Given the description of an element on the screen output the (x, y) to click on. 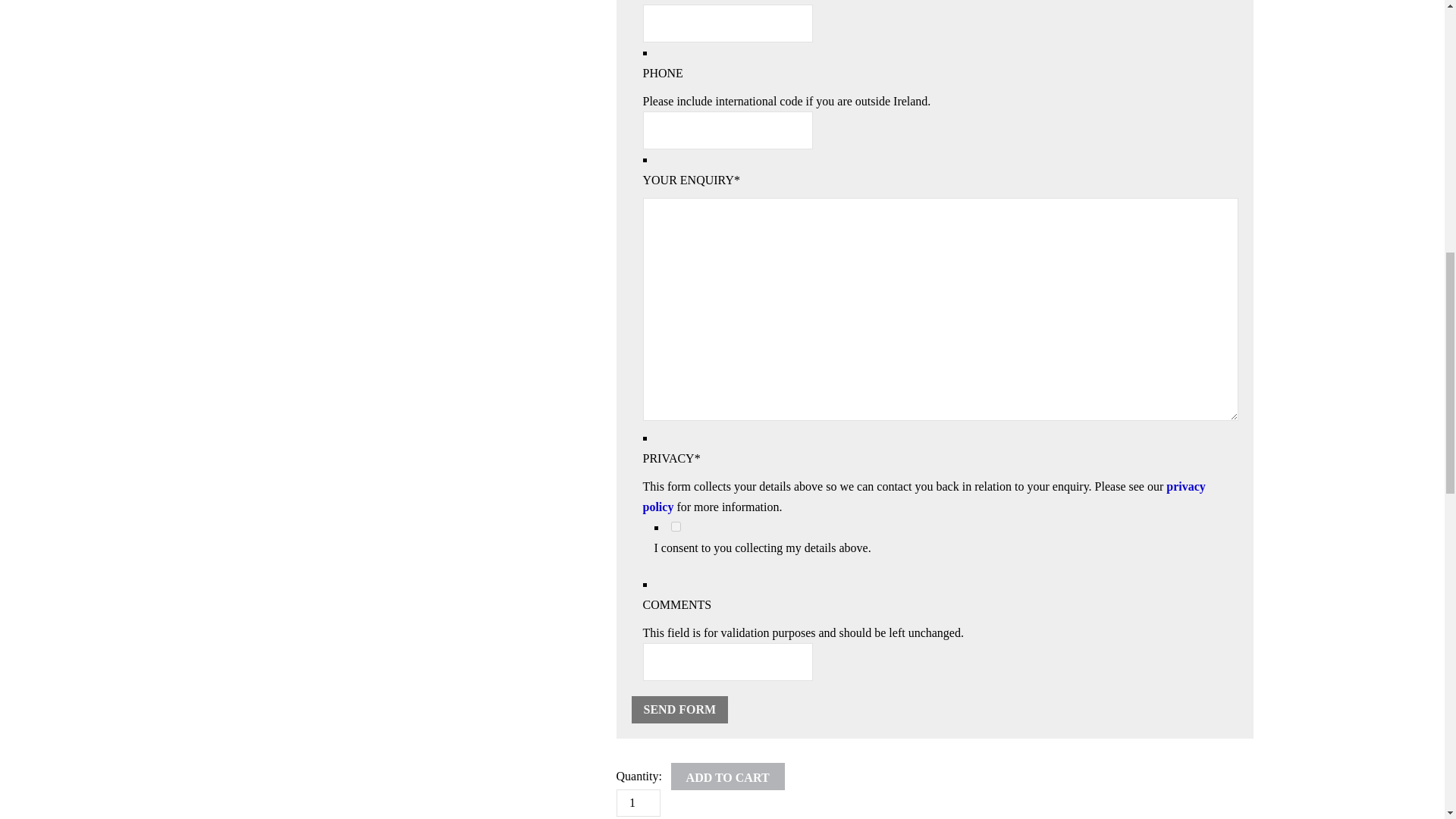
SEND FORM (679, 709)
1 (637, 802)
I consent to you collecting my details above. (674, 526)
